Given the description of an element on the screen output the (x, y) to click on. 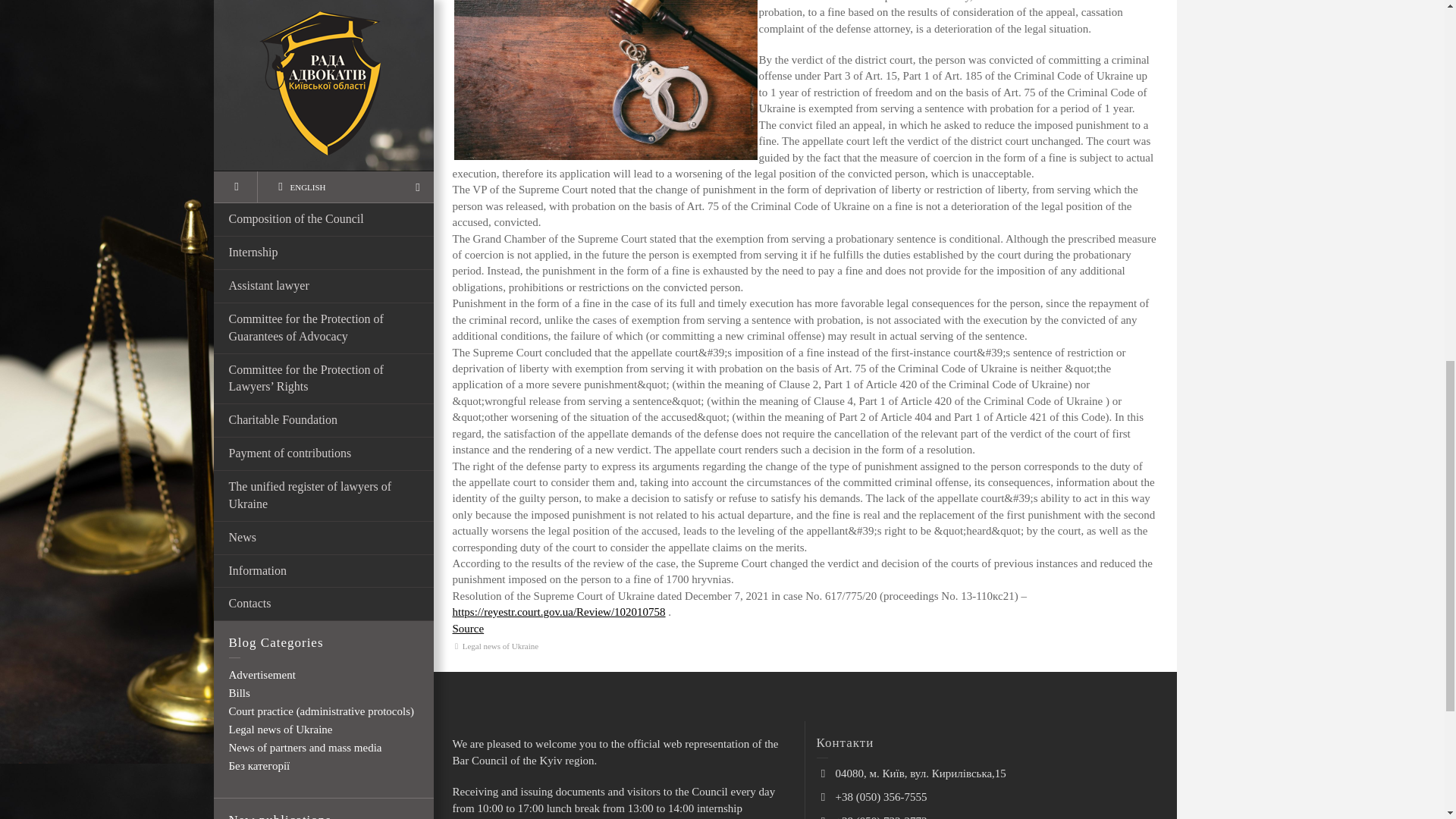
Happy birthday to lawyer Nina Chernobay! (345, 215)
Happy birthday to lawyer Nina Chernobay! (345, 215)
Source (467, 628)
Legal news of Ukraine (500, 645)
